Given the description of an element on the screen output the (x, y) to click on. 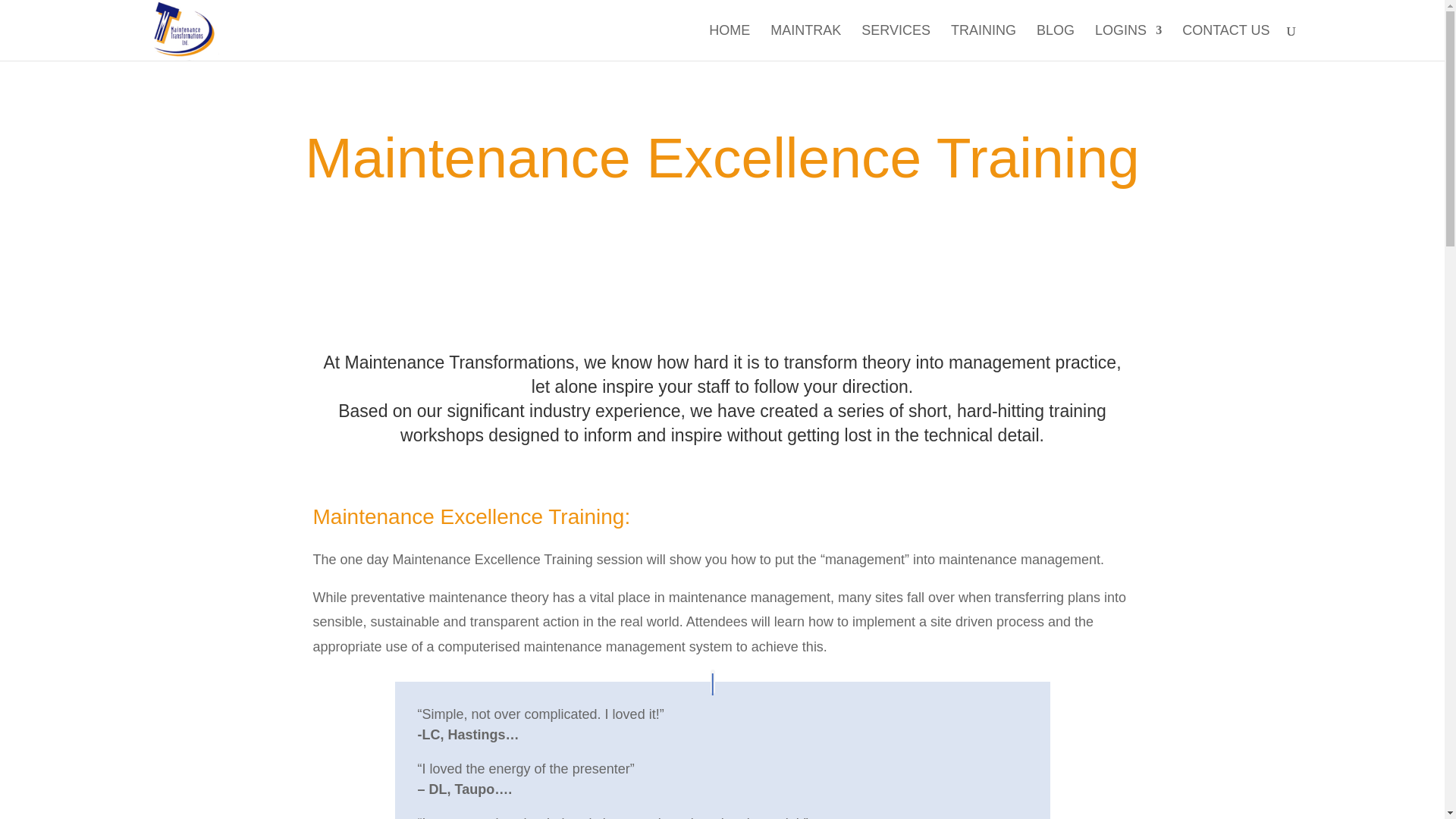
CONTACT US (1225, 42)
MAINTRAK (805, 42)
SERVICES (895, 42)
HOME (729, 42)
TRAINING (983, 42)
BLOG (1055, 42)
LOGINS (1127, 42)
